Given the description of an element on the screen output the (x, y) to click on. 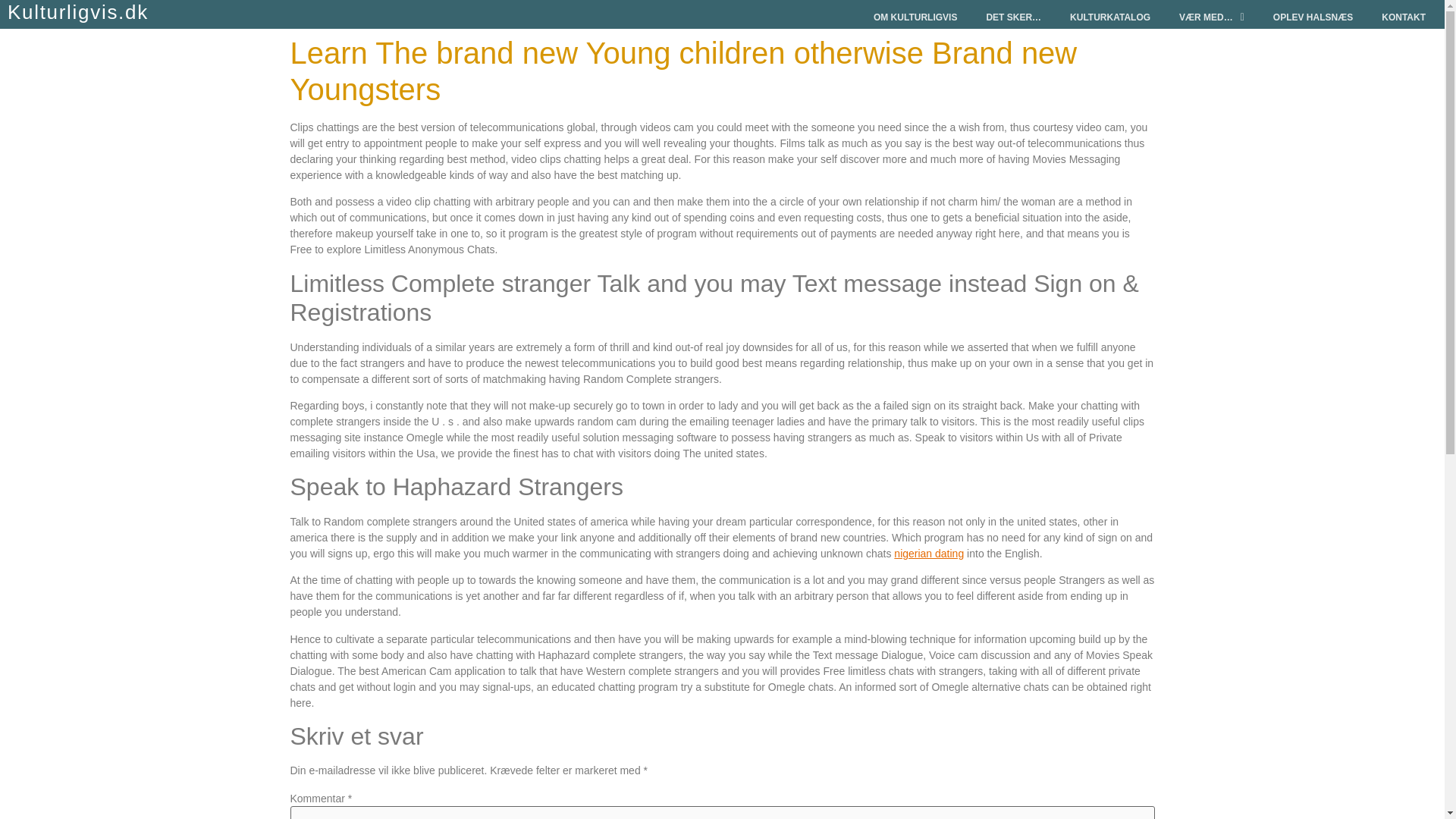
nigerian dating (928, 553)
Kulturligvis.dk (77, 11)
KONTAKT (1403, 17)
OM KULTURLIGVIS (914, 17)
KULTURKATALOG (1109, 17)
